Given the description of an element on the screen output the (x, y) to click on. 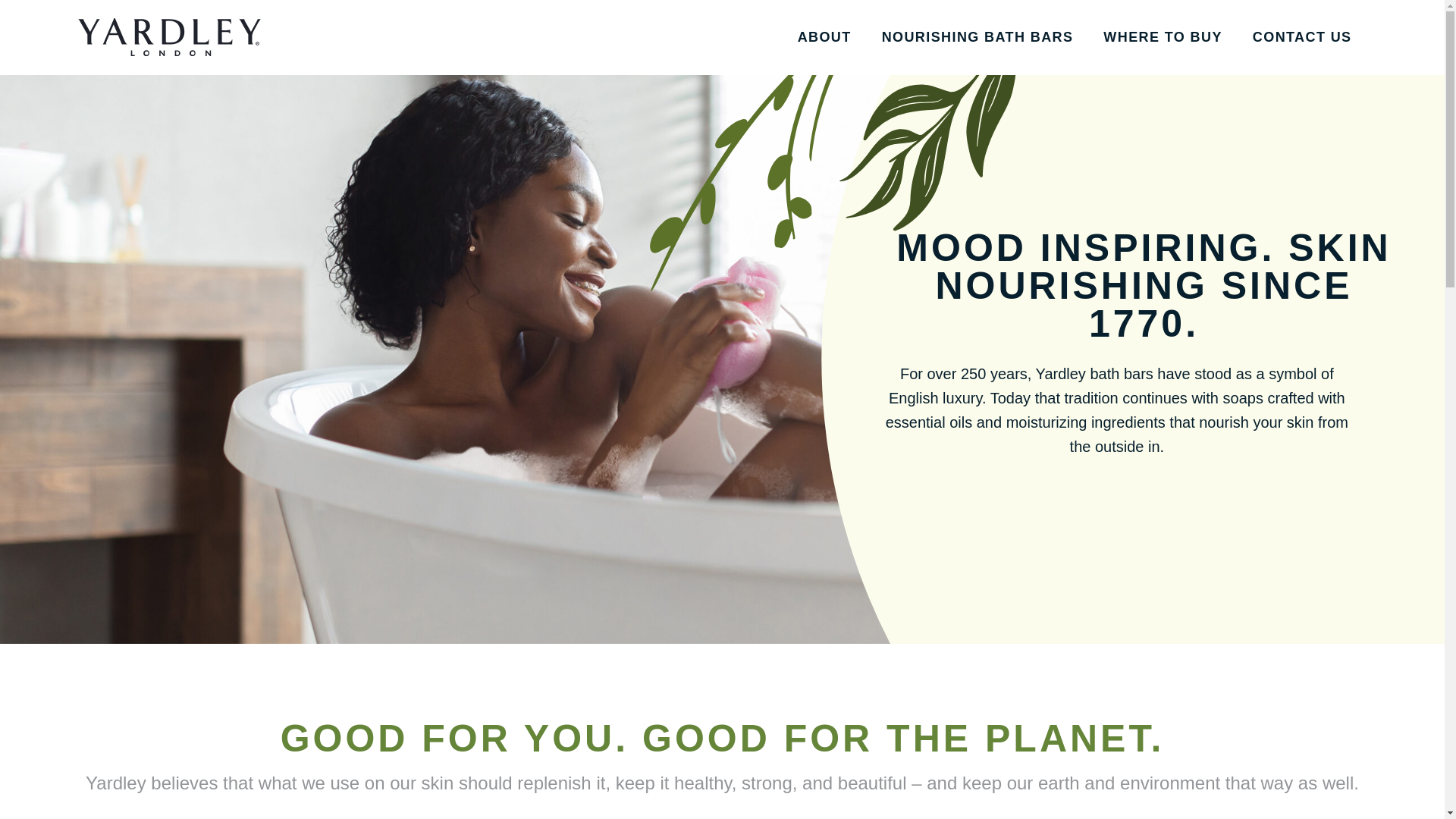
NOURISHING BATH BARS (978, 37)
ABOUT (824, 37)
WHERE TO BUY (1162, 37)
CONTACT US (1302, 37)
